Given the description of an element on the screen output the (x, y) to click on. 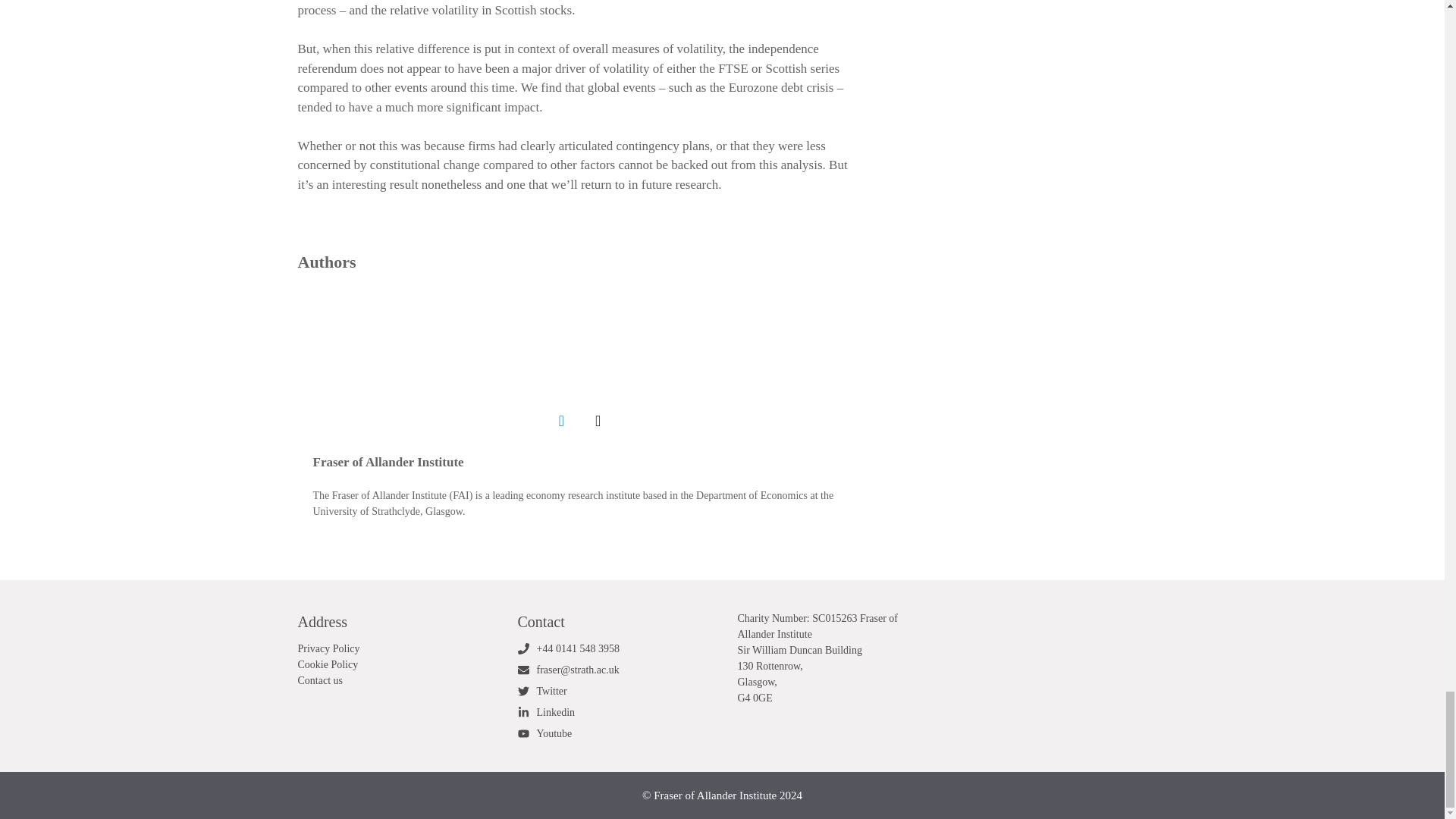
Fraser of Allander Institute (388, 462)
